Given the description of an element on the screen output the (x, y) to click on. 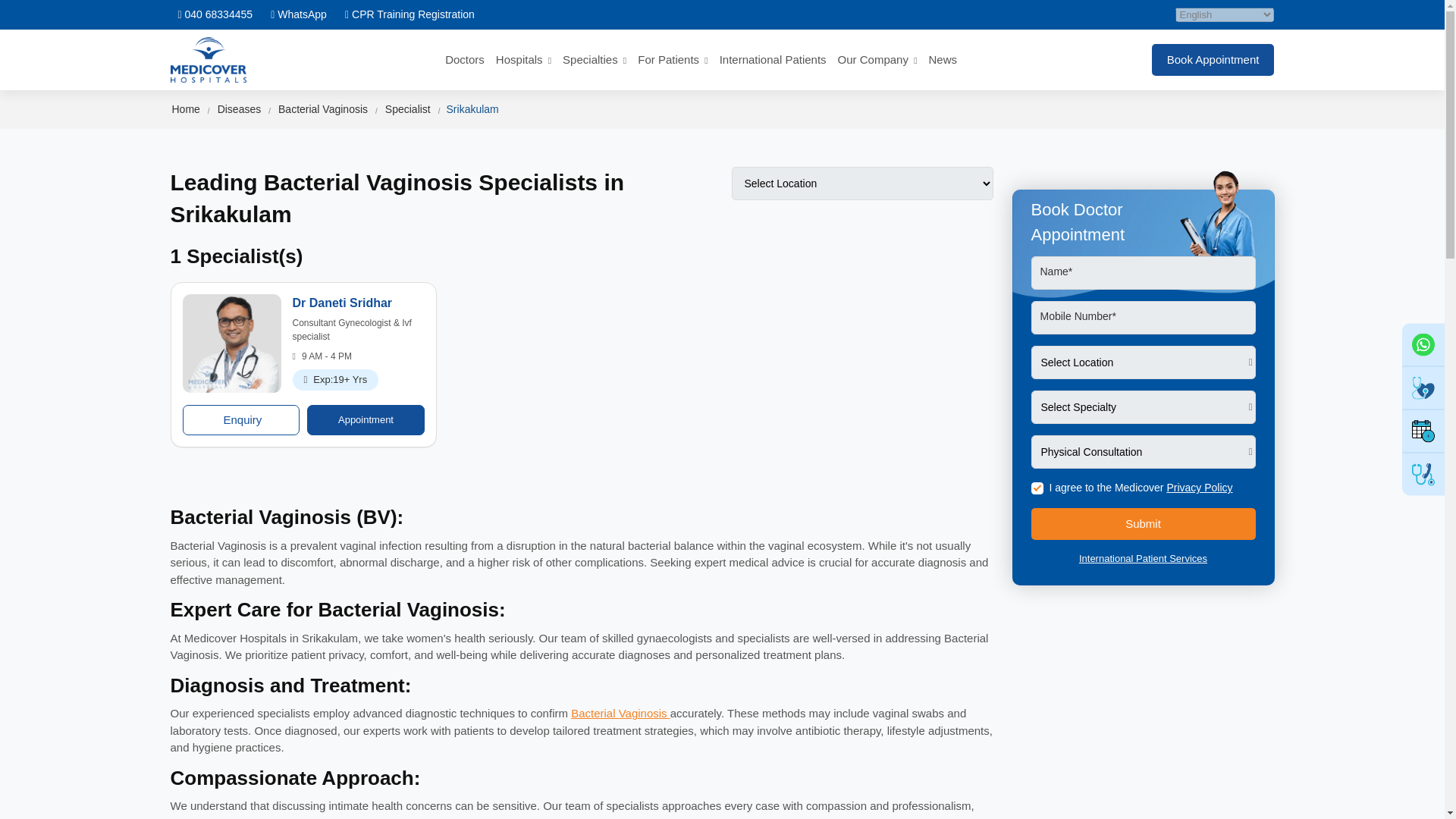
Second Opinions (1423, 473)
Hospitals (523, 59)
Our Company (877, 59)
Book Appointment (1423, 431)
WhatsApp (298, 14)
 Enquiry (240, 419)
Doctors (464, 59)
040 68334455 (215, 14)
International Patients (773, 59)
For Patients (672, 59)
only characters are allowed (1142, 272)
CPR Training Registration (409, 14)
Specialties (594, 59)
Whatsapp (1423, 344)
Health Checkup Packages (1423, 386)
